Given the description of an element on the screen output the (x, y) to click on. 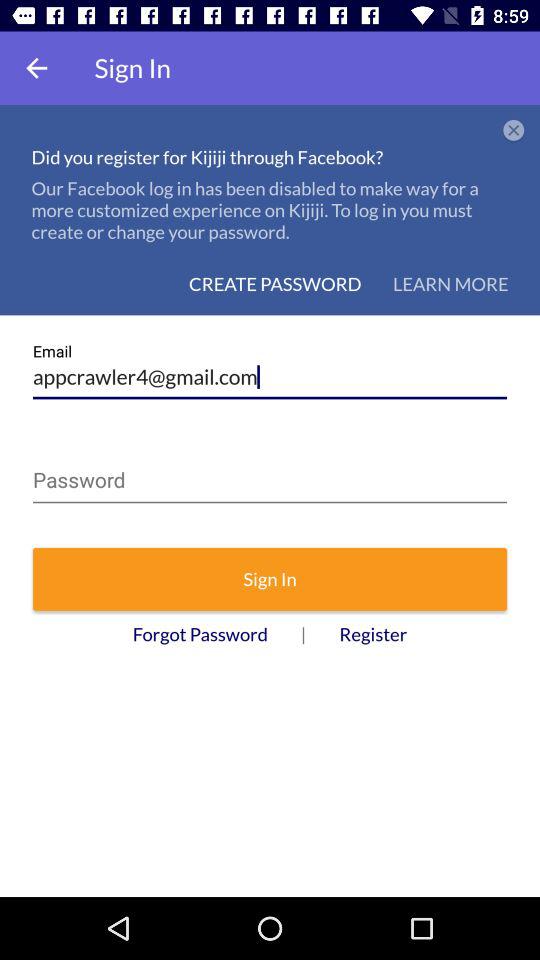
tap item next to the create password icon (450, 283)
